Given the description of an element on the screen output the (x, y) to click on. 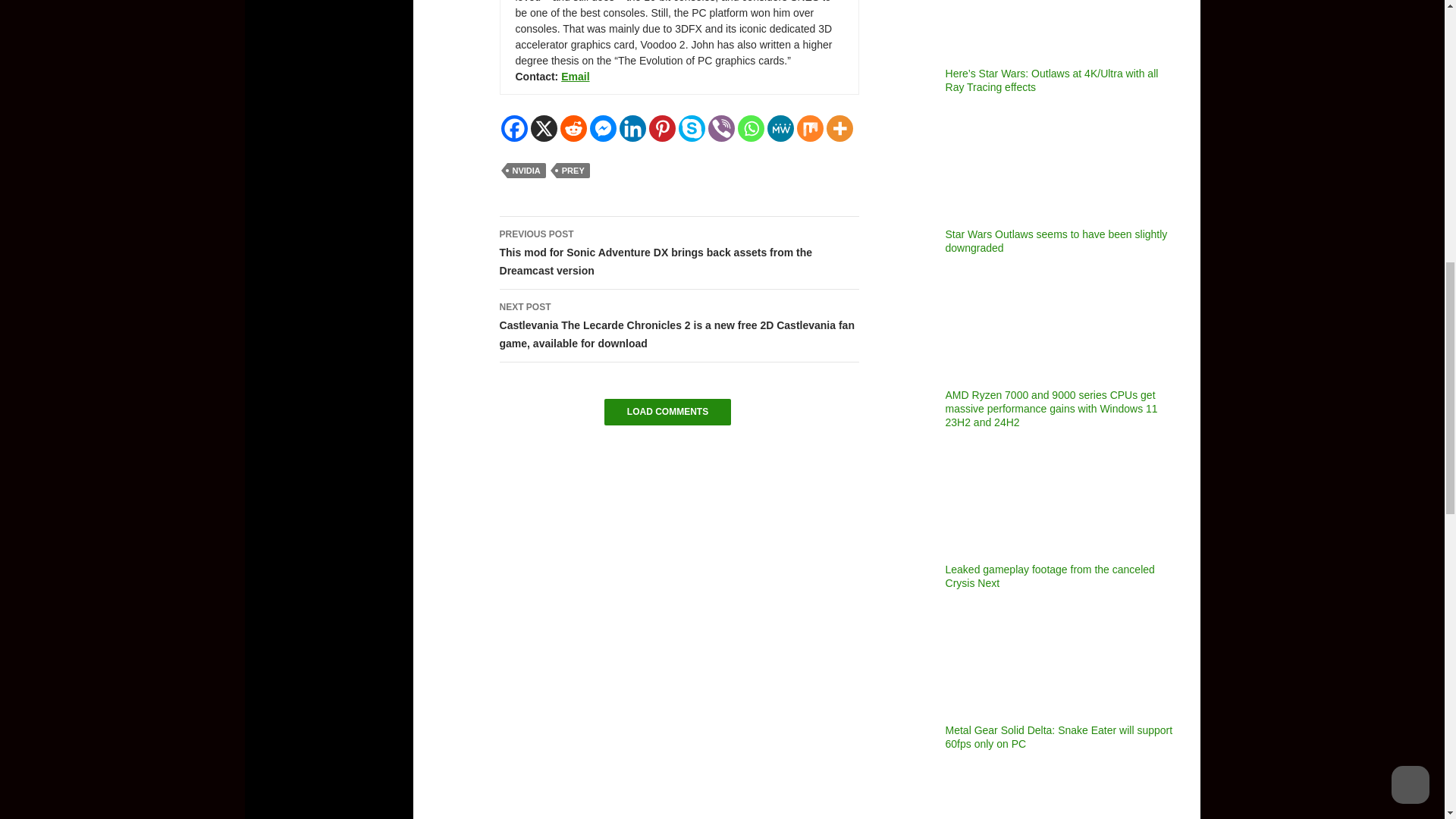
Facebook (513, 128)
Email (574, 76)
X (544, 128)
